Given the description of an element on the screen output the (x, y) to click on. 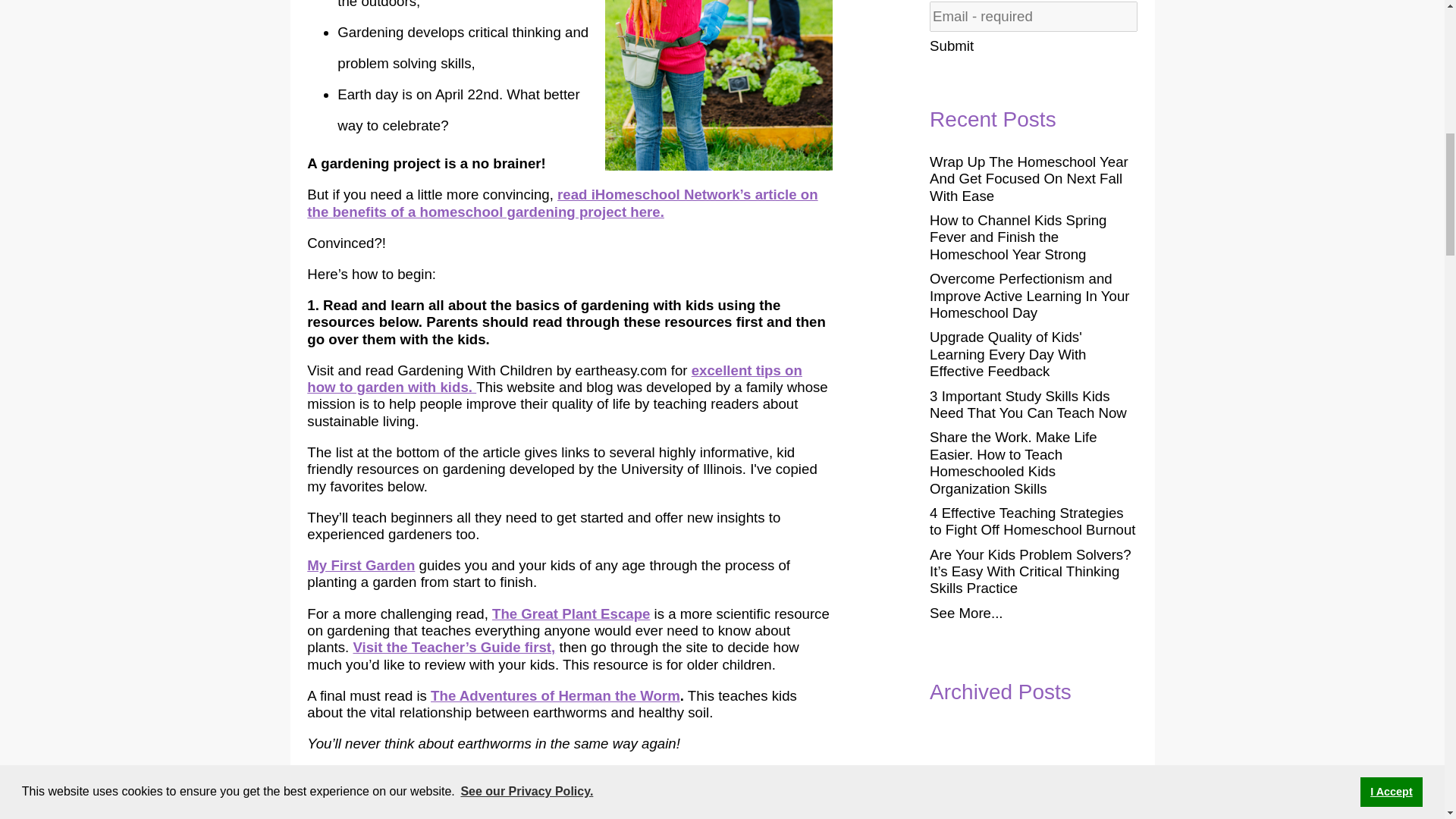
girl gardening (718, 85)
The Great Plant Escape (570, 613)
My First Garden (360, 565)
excellent tips on how to garden with kids. (554, 378)
The Adventures of Herman the Worm (554, 695)
Archived Posts (1033, 692)
